Given the description of an element on the screen output the (x, y) to click on. 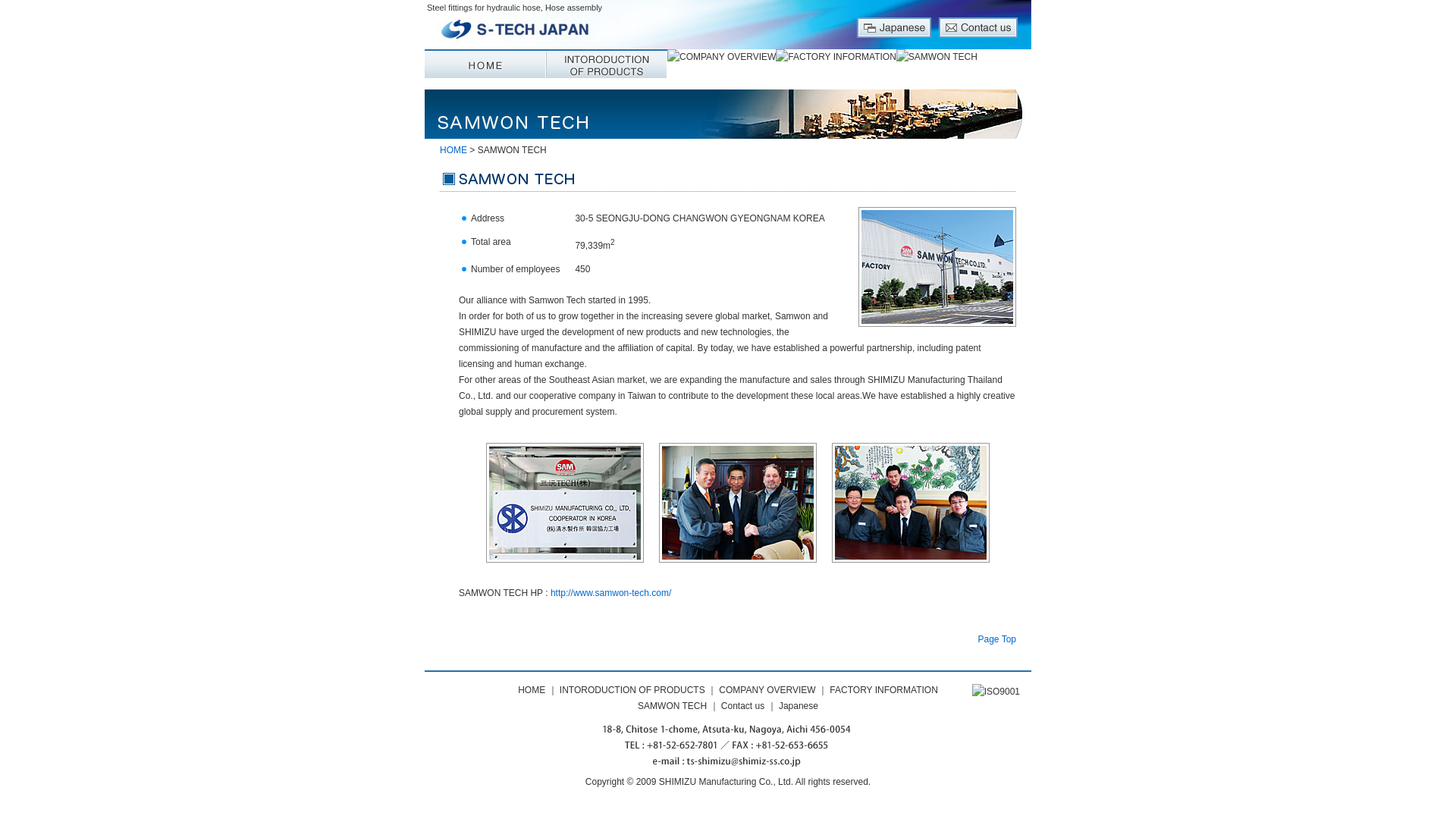
Page Top (997, 638)
HOME (453, 149)
FACTORY INFORMATION (883, 689)
COMPANY OVERVIEW (767, 689)
HOME (531, 689)
SAMWON TECH (671, 706)
INTORODUCTION OF PRODUCTS (631, 689)
Contact us (742, 706)
Japanese (798, 706)
